Given the description of an element on the screen output the (x, y) to click on. 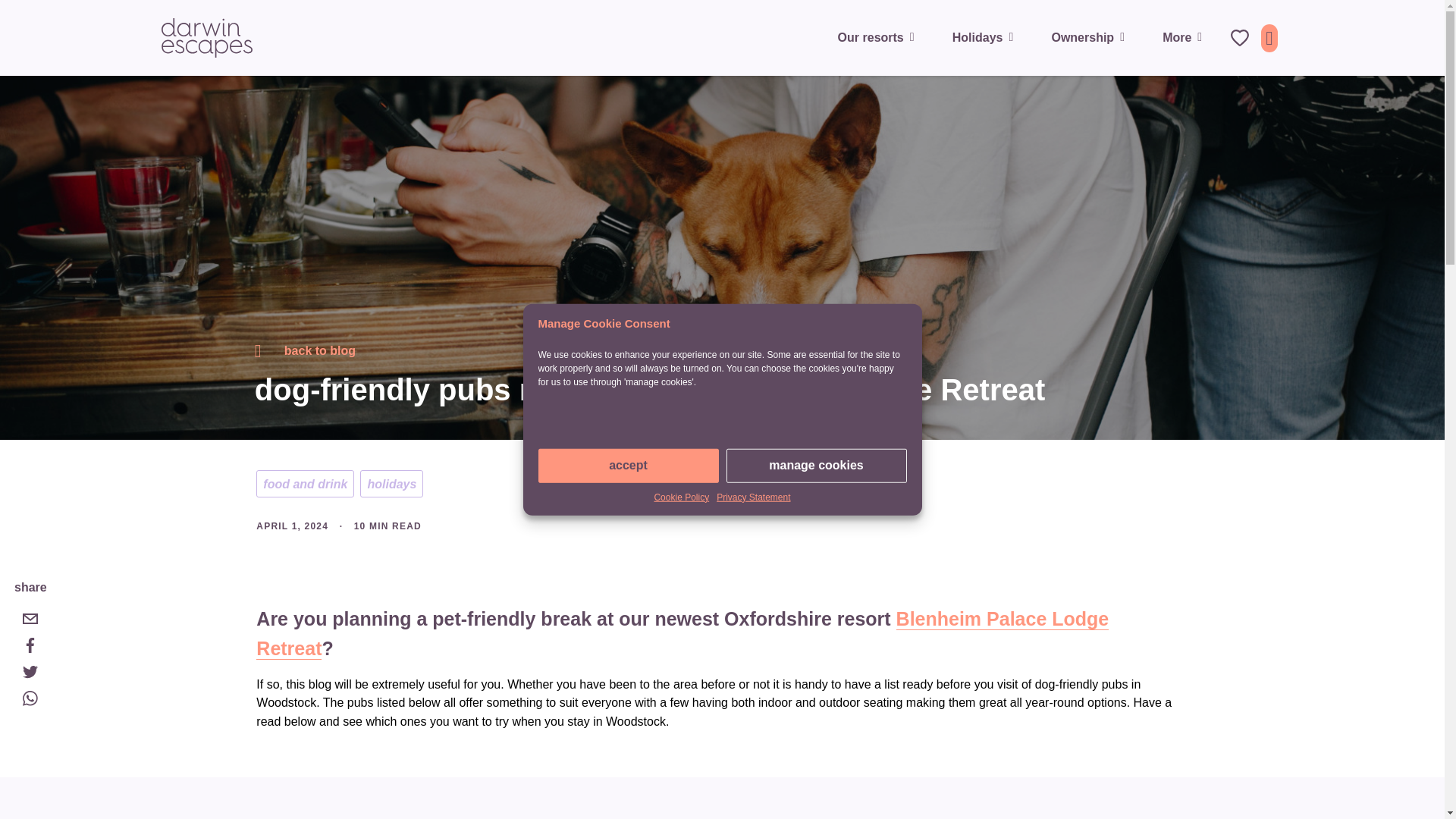
Cookie Policy (681, 496)
manage cookies (816, 464)
accept (628, 464)
More (1185, 37)
Our resorts (879, 37)
Privacy Statement (753, 496)
